Given the description of an element on the screen output the (x, y) to click on. 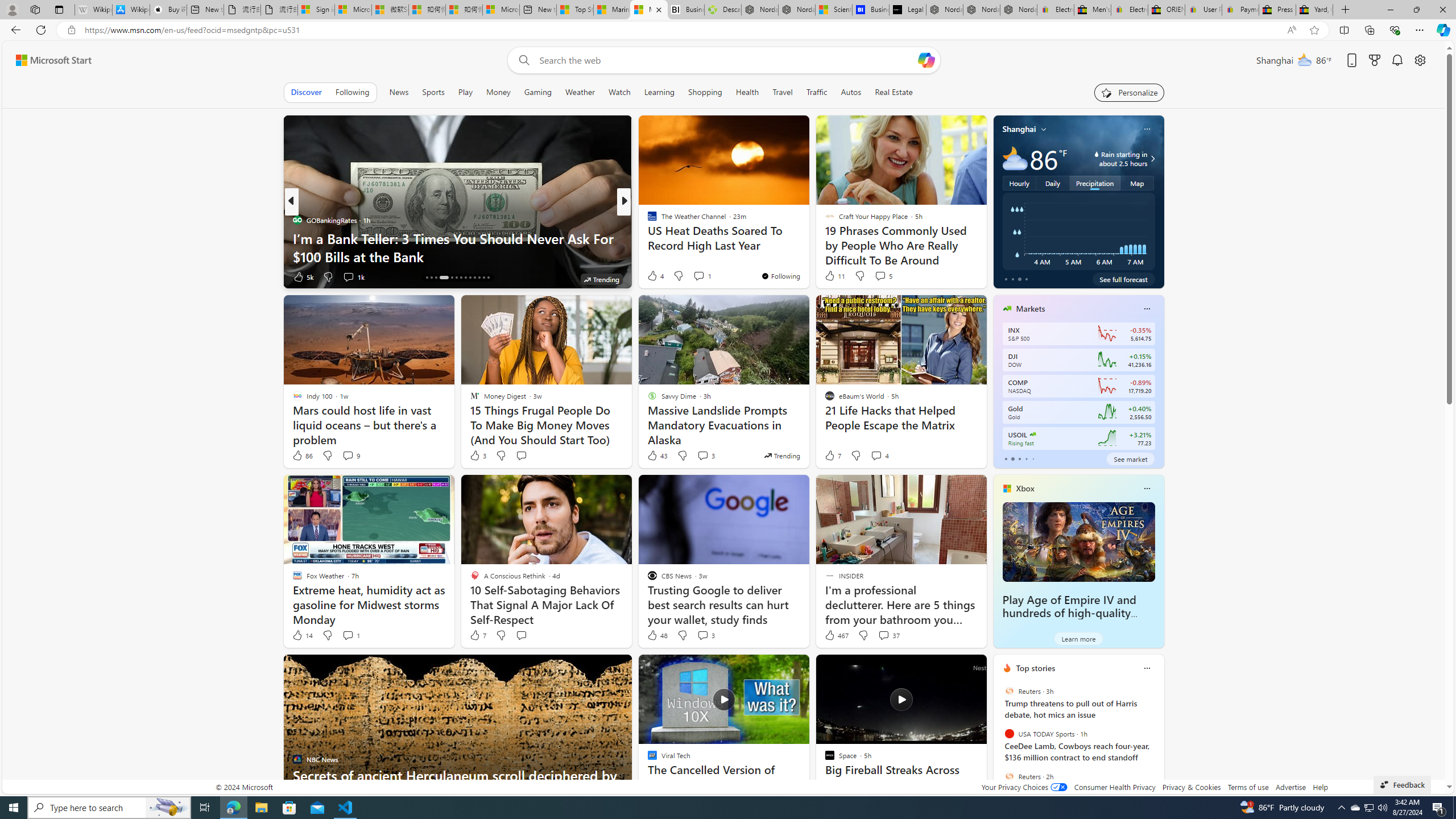
Markets (1030, 308)
View comments 37 Comment (888, 634)
Marine life - MSN (611, 9)
Microsoft Services Agreement (353, 9)
Shanghai (1018, 128)
A Conscious Rethink (647, 219)
Watch (619, 92)
Class: icon-img (1146, 668)
View comments 5 Comment (879, 275)
Money (497, 92)
Sports (432, 92)
AutomationID: tab-19 (456, 277)
Privacy & Cookies (1191, 786)
